Given the description of an element on the screen output the (x, y) to click on. 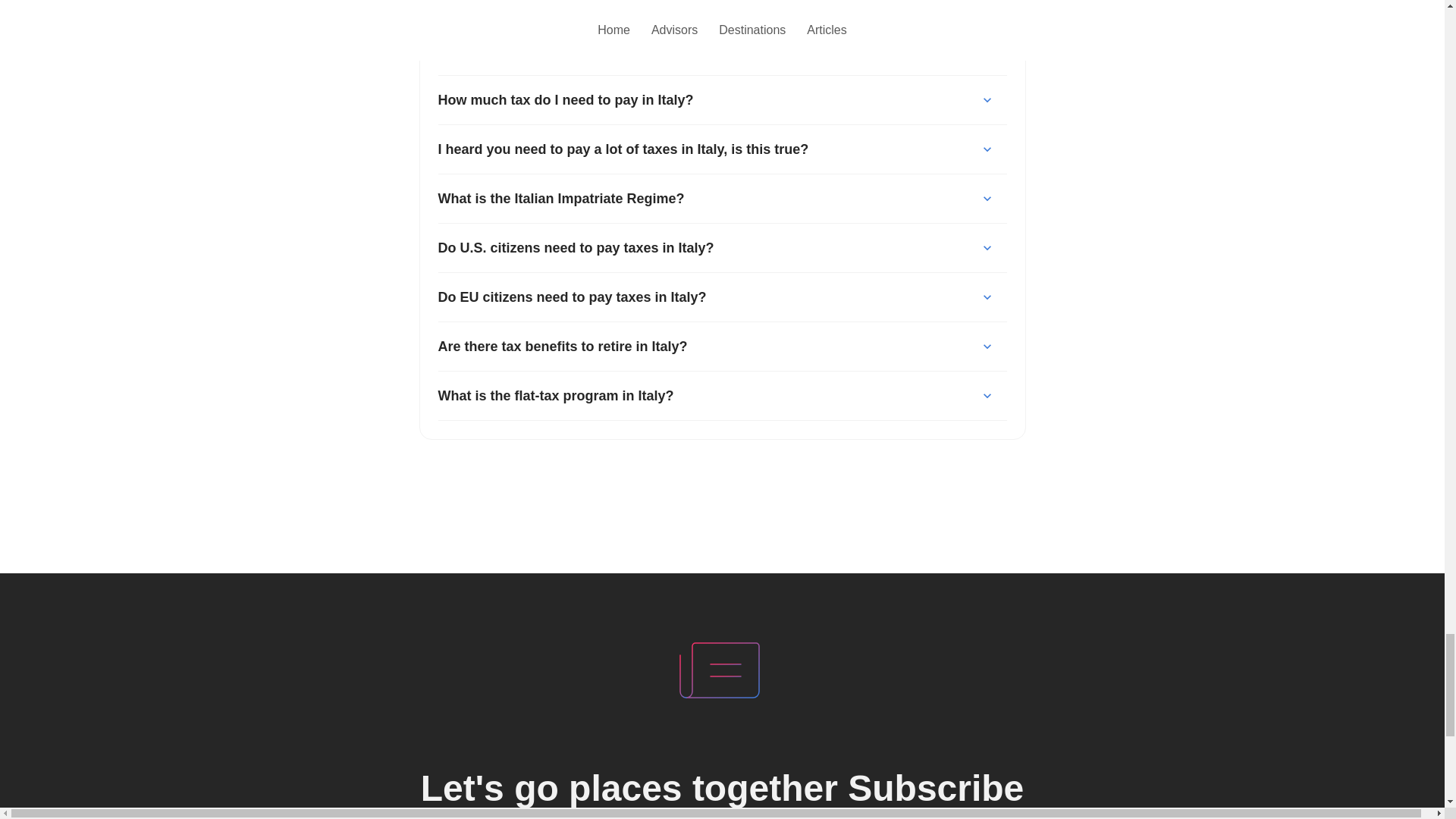
Do U.S. citizens need to pay taxes in Italy? (722, 246)
What is the Italian Impatriate Regime? (722, 198)
How much tax do I need to pay in Italy? (722, 100)
What is the flat-tax program in Italy? (722, 395)
Are there tax benefits to retire in Italy? (722, 345)
Do EU citizens need to pay taxes in Italy? (722, 296)
What is a commercialista? (722, 49)
